Given the description of an element on the screen output the (x, y) to click on. 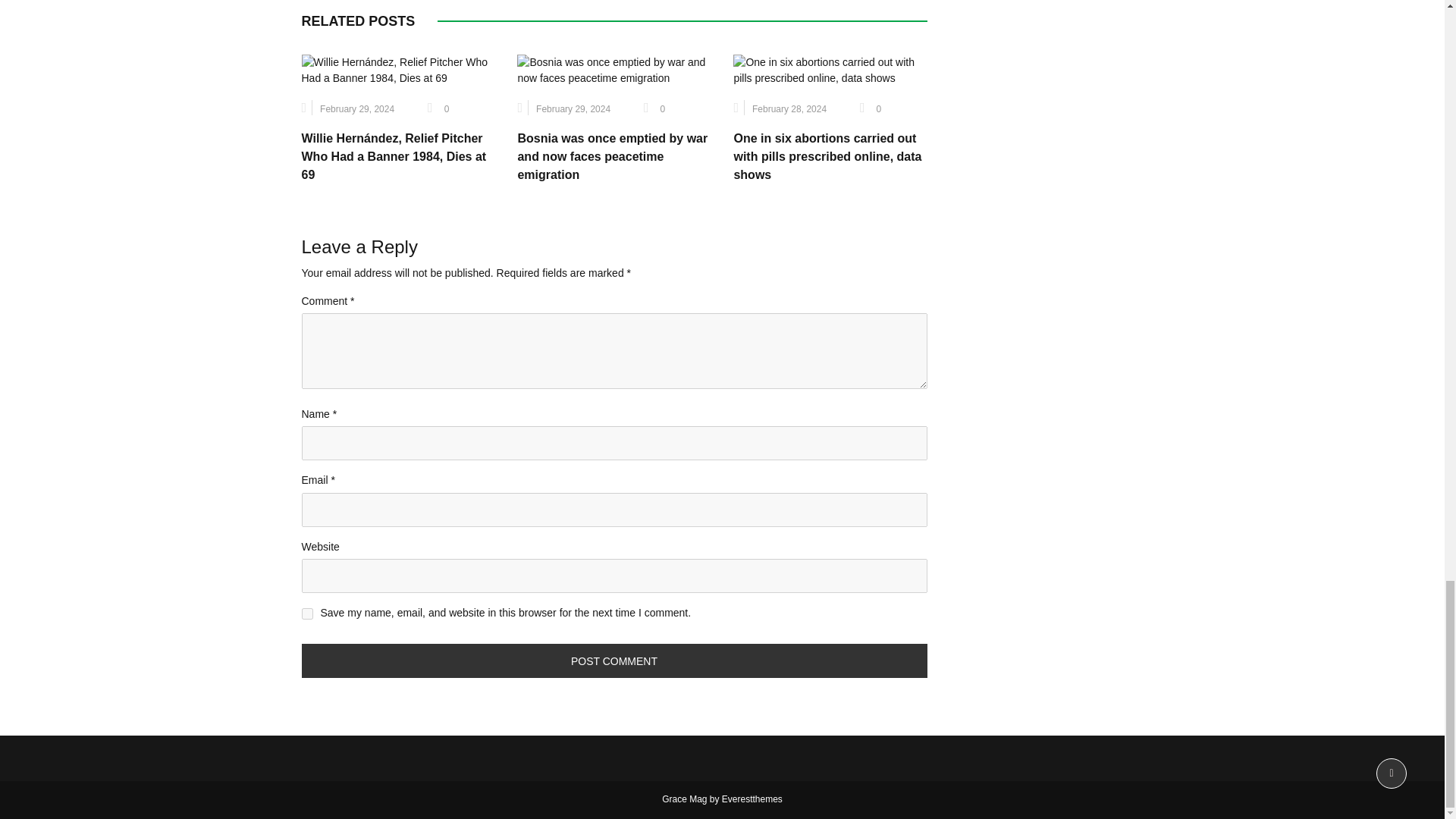
yes (307, 613)
Post Comment (614, 660)
